Given the description of an element on the screen output the (x, y) to click on. 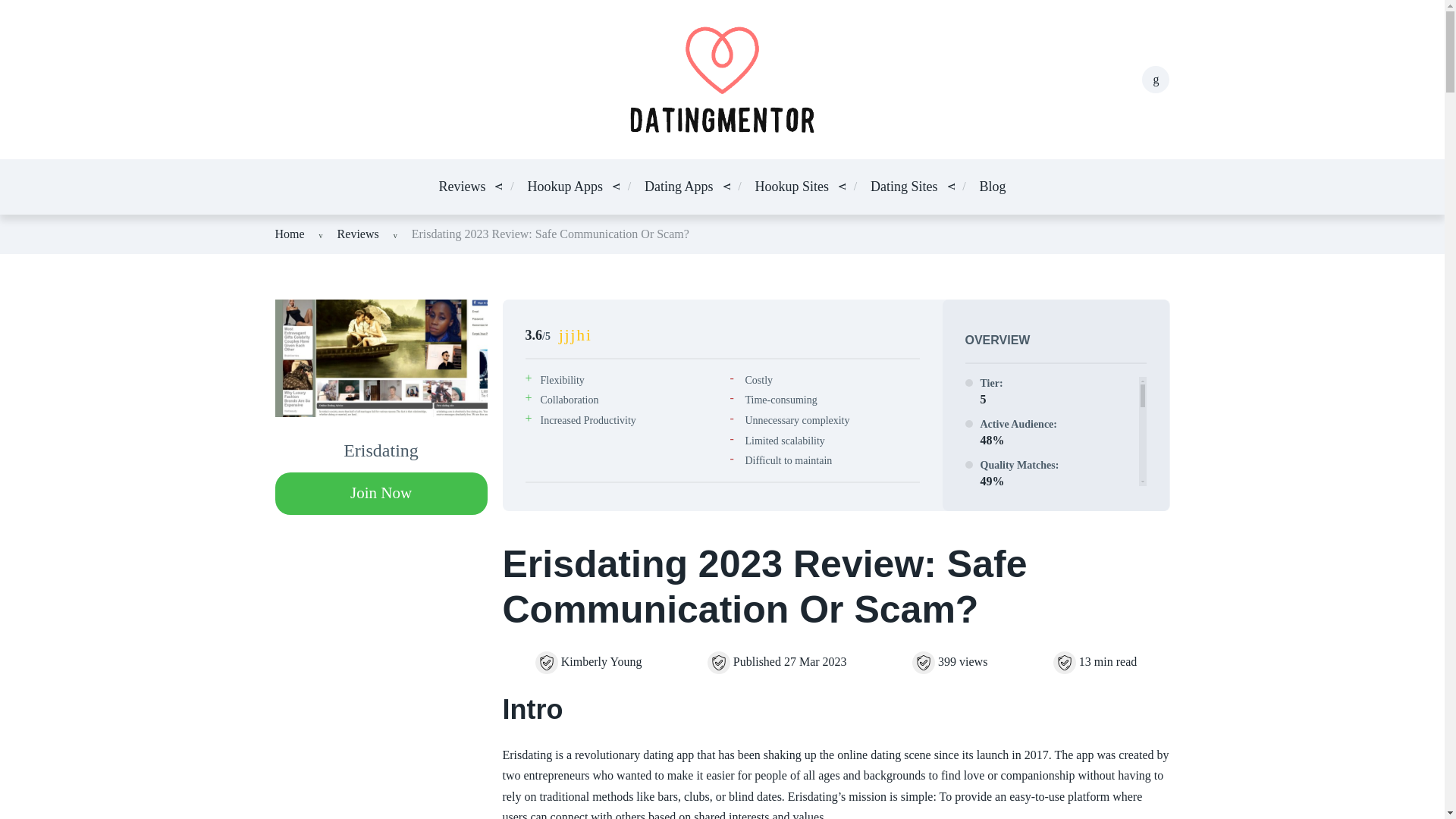
Reviews (461, 186)
Home (289, 233)
Erisdating 2023 Review: Safe Communication Or Scam? (550, 233)
Reviews (357, 233)
